Given the description of an element on the screen output the (x, y) to click on. 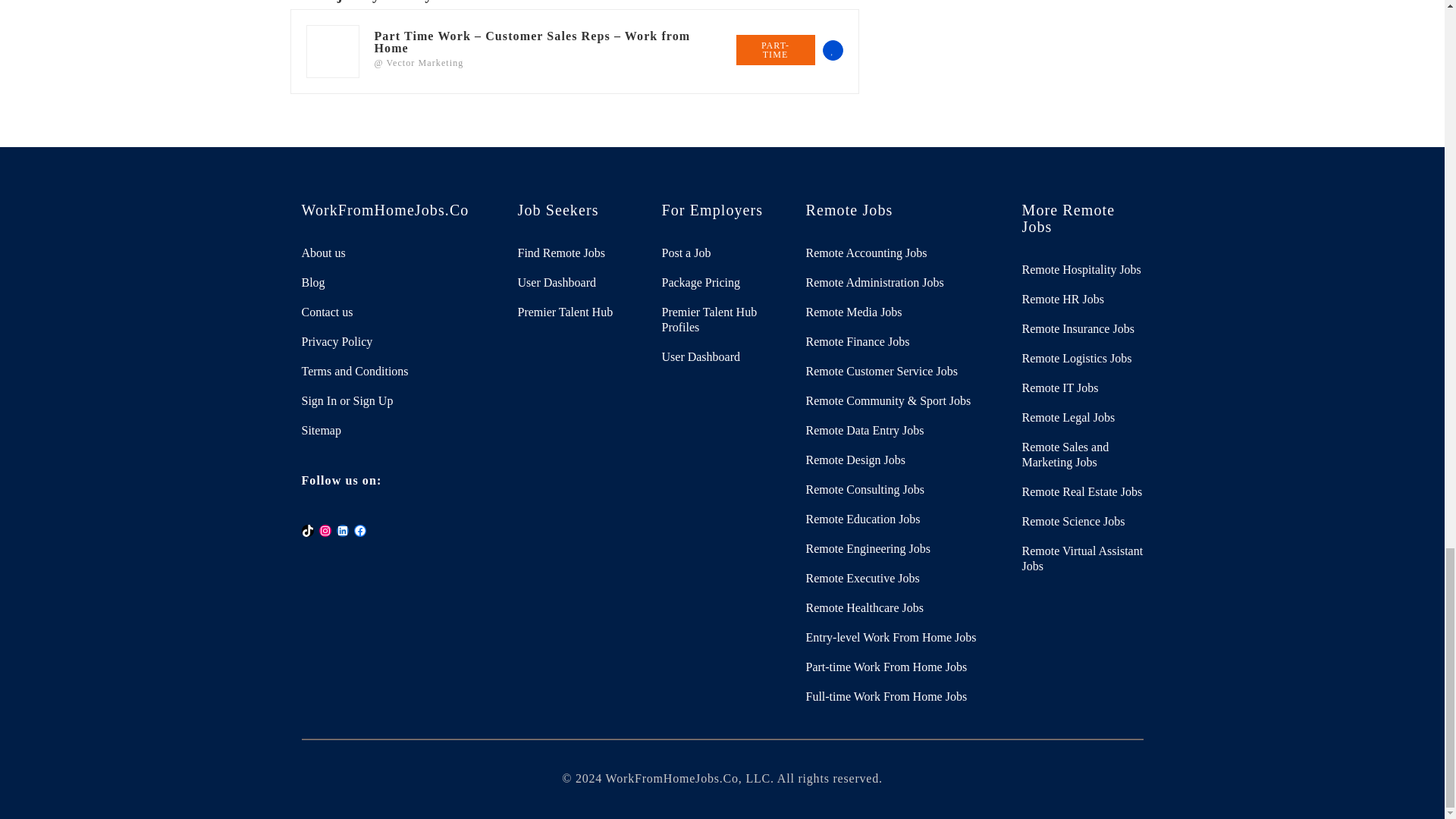
Sitemap (398, 430)
Sign In or Sign Up (398, 400)
Find Remote Jobs (577, 253)
